Given the description of an element on the screen output the (x, y) to click on. 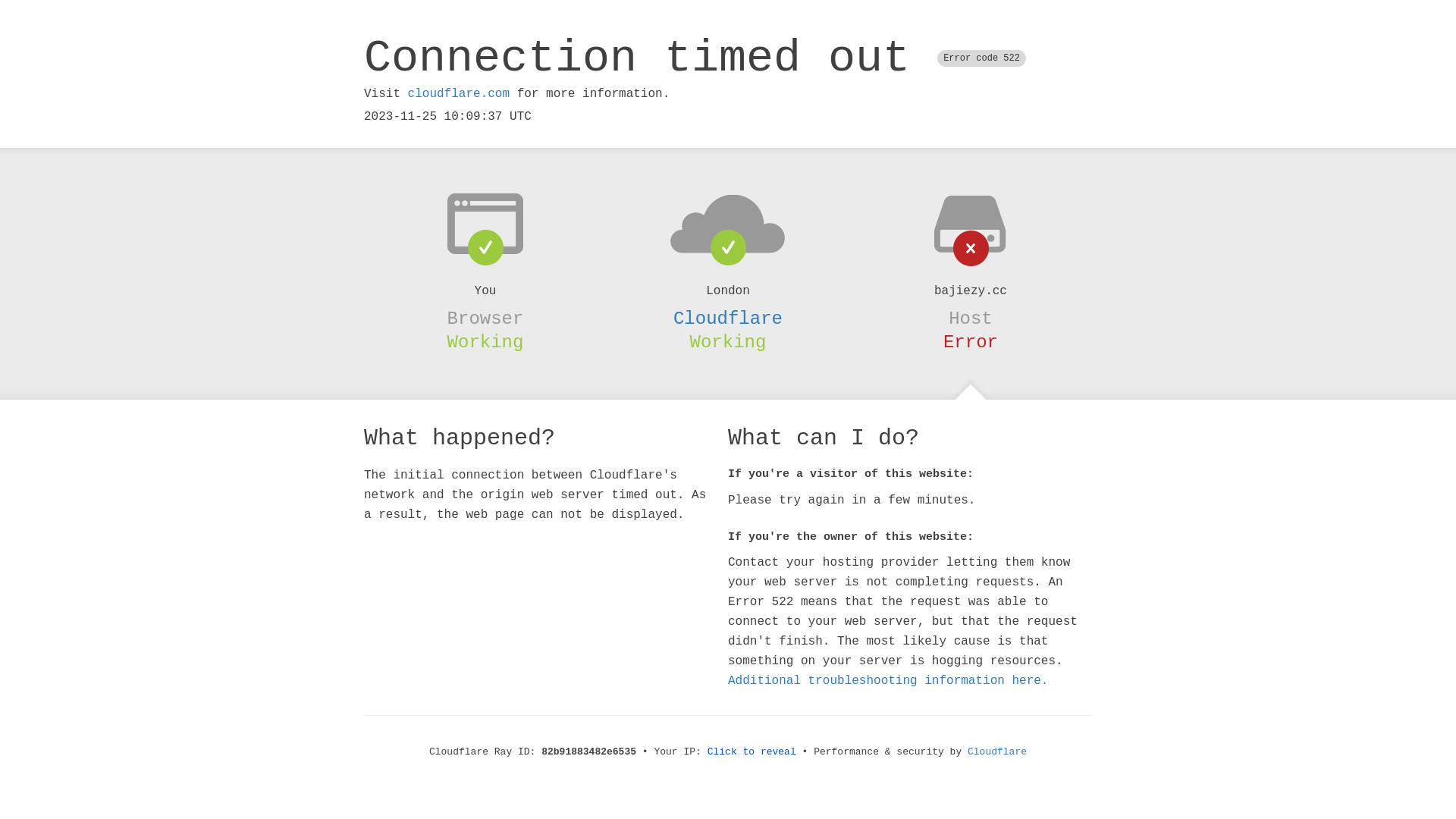
Cloudflare Element type: text (727, 318)
Click to reveal Element type: text (751, 751)
Cloudflare Element type: text (996, 751)
cloudflare.com Element type: text (458, 93)
Additional troubleshooting information here. Element type: text (888, 680)
